Given the description of an element on the screen output the (x, y) to click on. 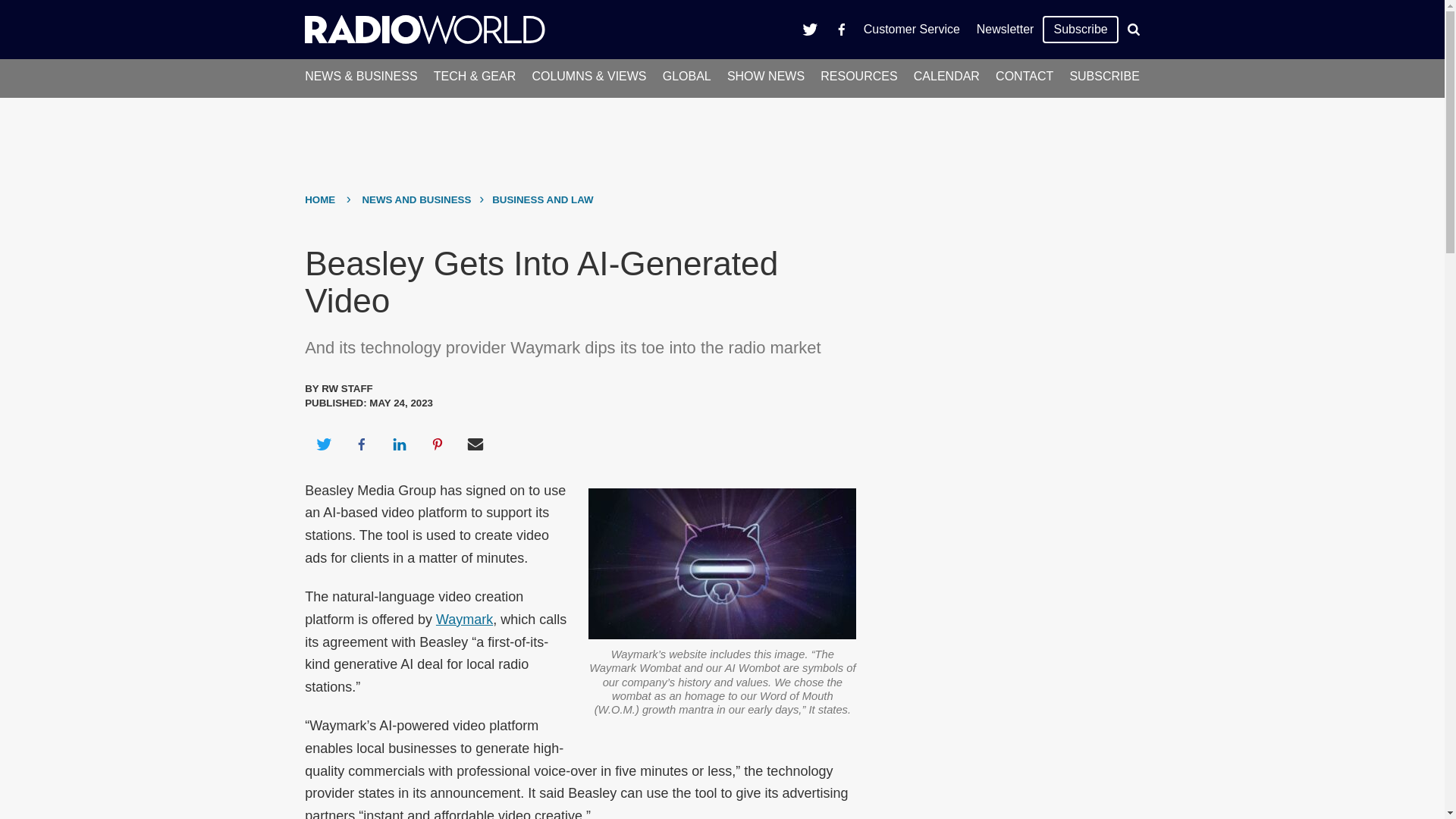
Customer Service (912, 29)
Share on Pinterest (438, 444)
Share via Email (476, 444)
Share on Twitter (323, 444)
Share on Facebook (361, 444)
Share on LinkedIn (399, 444)
